Given the description of an element on the screen output the (x, y) to click on. 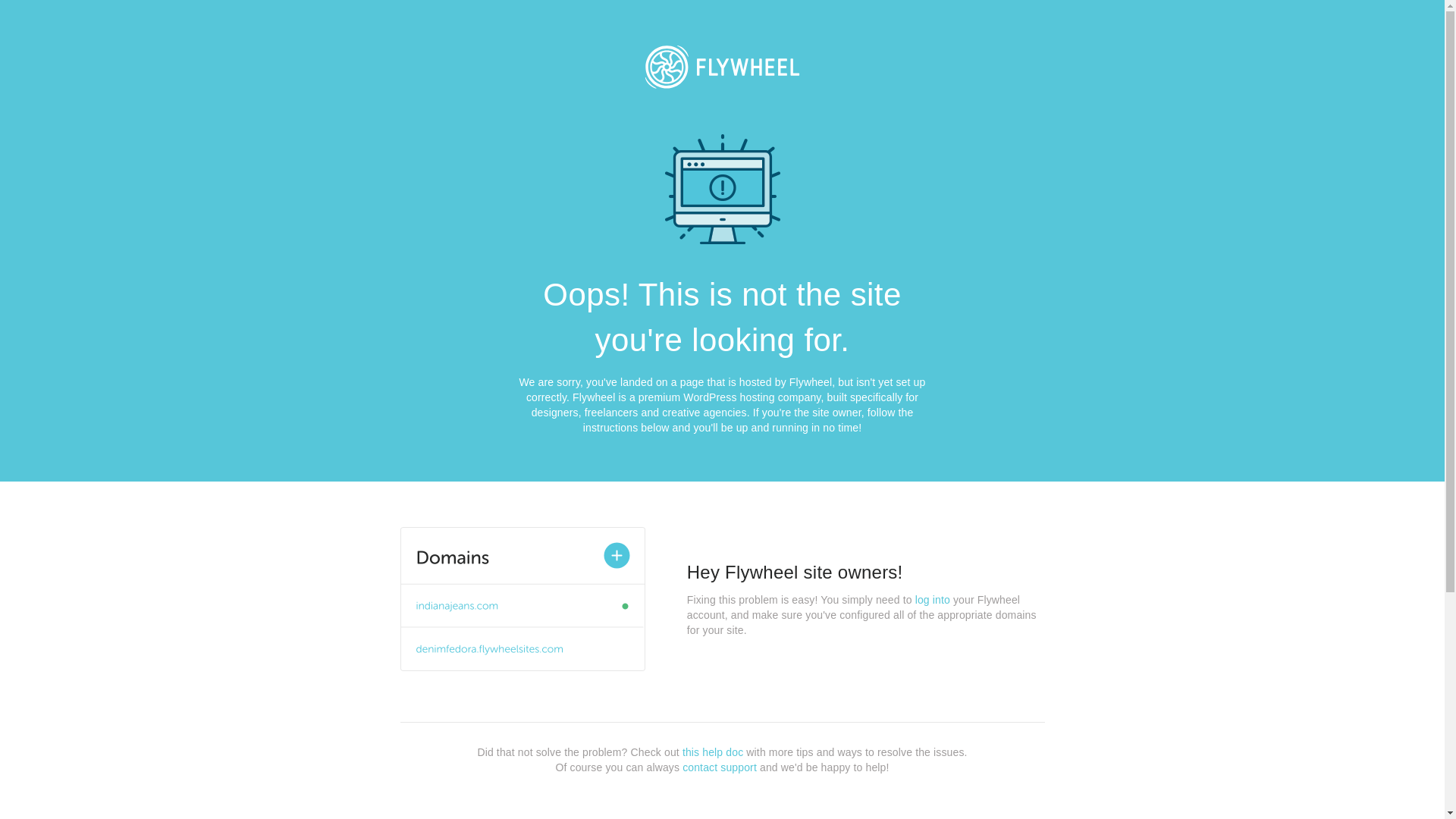
log into (932, 599)
contact support (719, 767)
this help doc (712, 752)
